Given the description of an element on the screen output the (x, y) to click on. 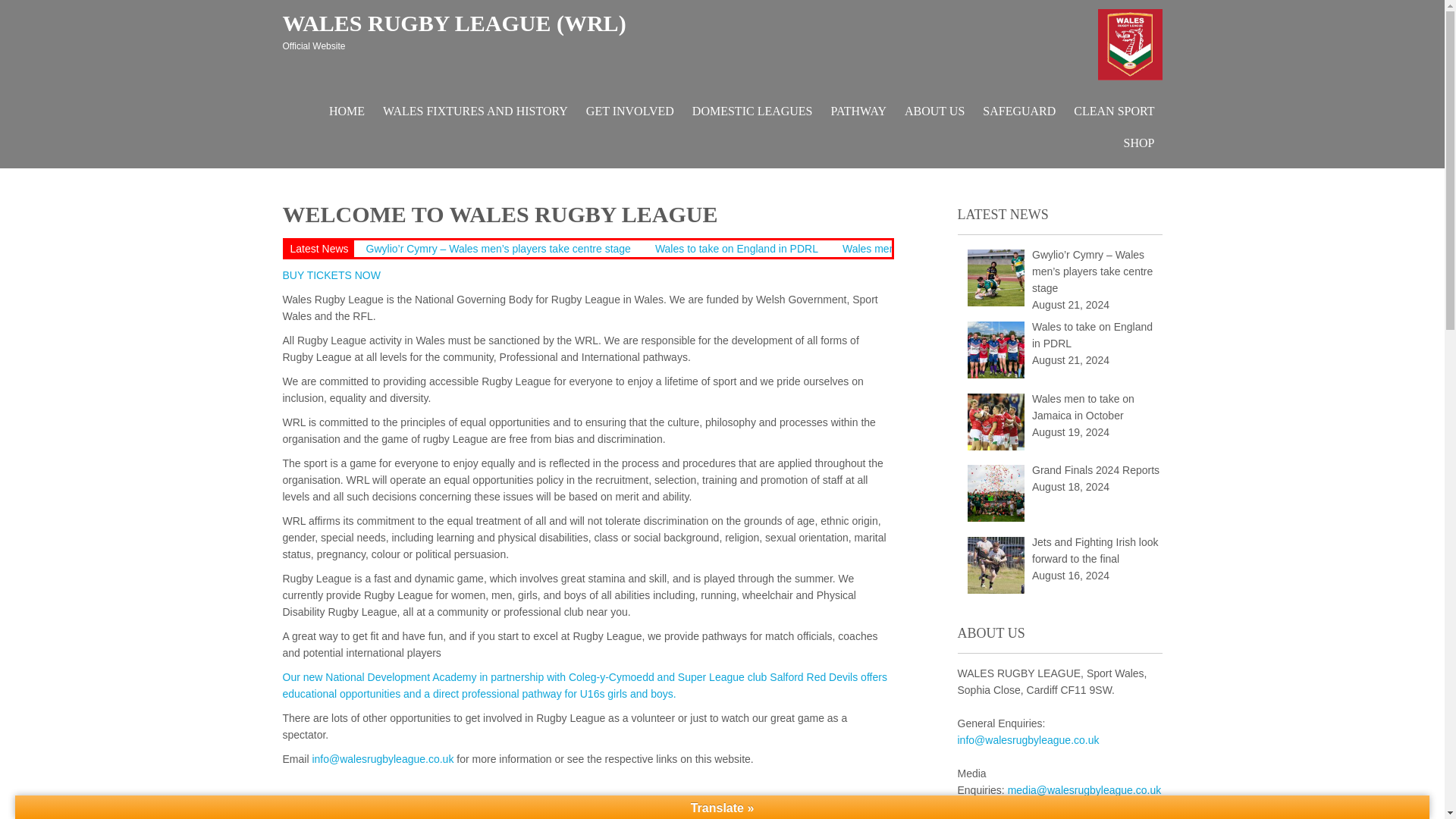
WALES FIXTURES AND HISTORY (475, 111)
DOMESTIC LEAGUES (752, 111)
GET INVOLVED (629, 111)
HOME (346, 111)
PATHWAY (859, 111)
ABOUT US (934, 111)
SAFEGUARD (1018, 111)
